Given the description of an element on the screen output the (x, y) to click on. 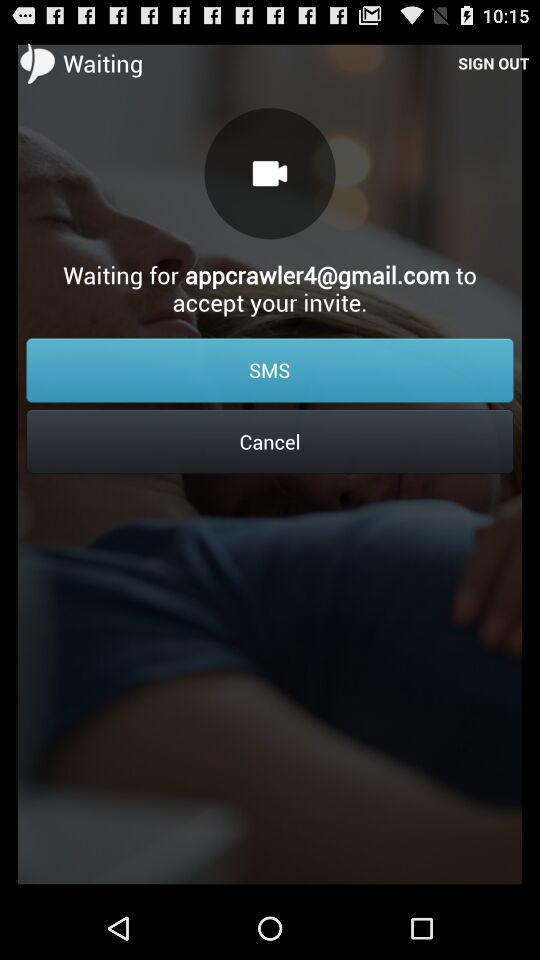
select item next to waiting item (493, 62)
